Given the description of an element on the screen output the (x, y) to click on. 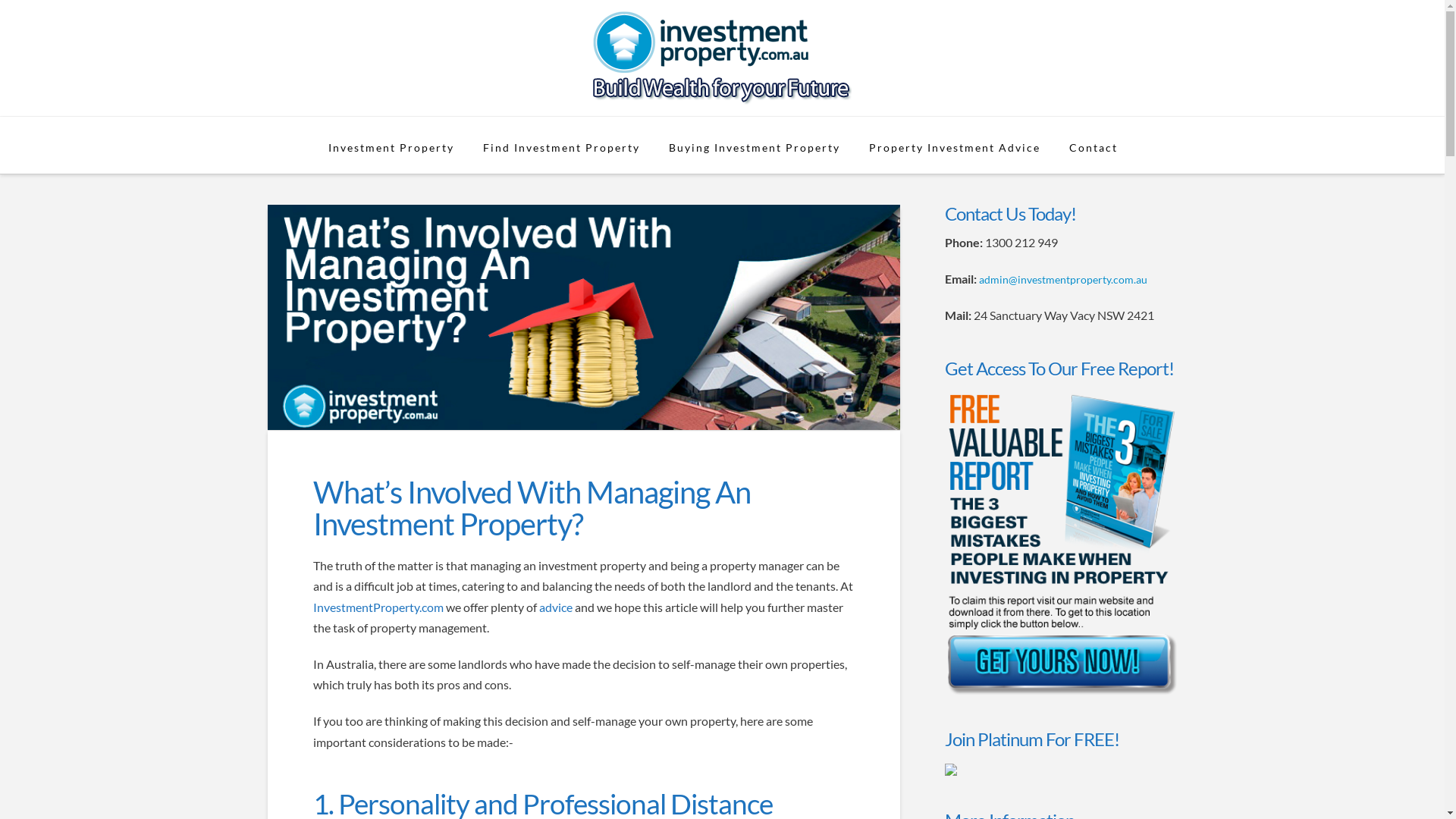
Buying Investment Property Element type: text (753, 144)
Property Investment Advice Element type: text (953, 144)
Latest News & Articles About Property Investing Element type: hover (722, 57)
Find Investment Property Element type: text (560, 144)
admin@investmentproperty.com.au Element type: text (1063, 279)
Investment Property Element type: text (390, 144)
Contact Element type: text (1092, 144)
advice Element type: text (554, 606)
InvestmentProperty.com Element type: text (377, 606)
